Given the description of an element on the screen output the (x, y) to click on. 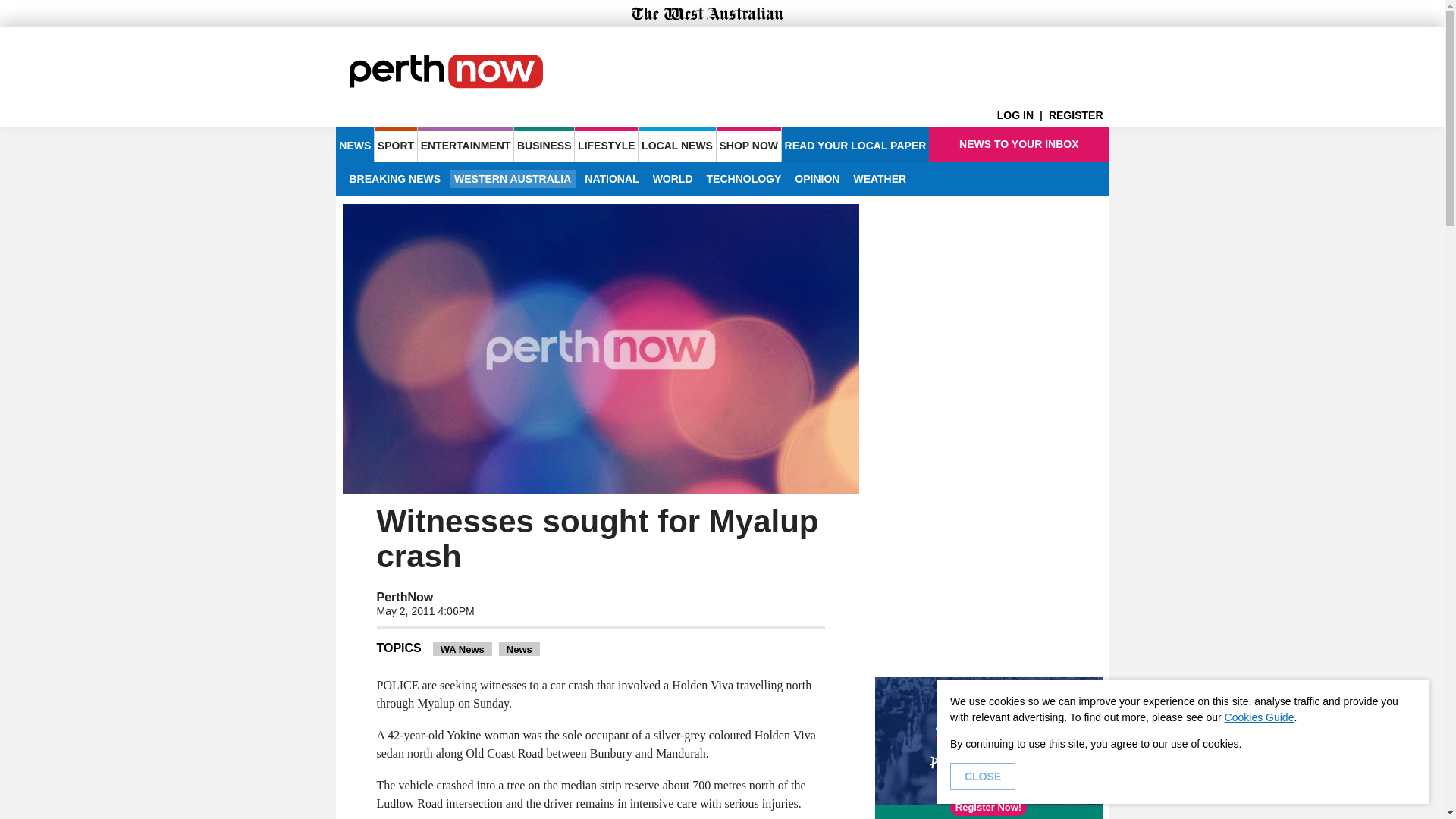
LOG IN (1022, 115)
SPORT (395, 144)
ENTERTAINMENT (465, 144)
REGISTER (1078, 115)
NEWS (354, 144)
